Given the description of an element on the screen output the (x, y) to click on. 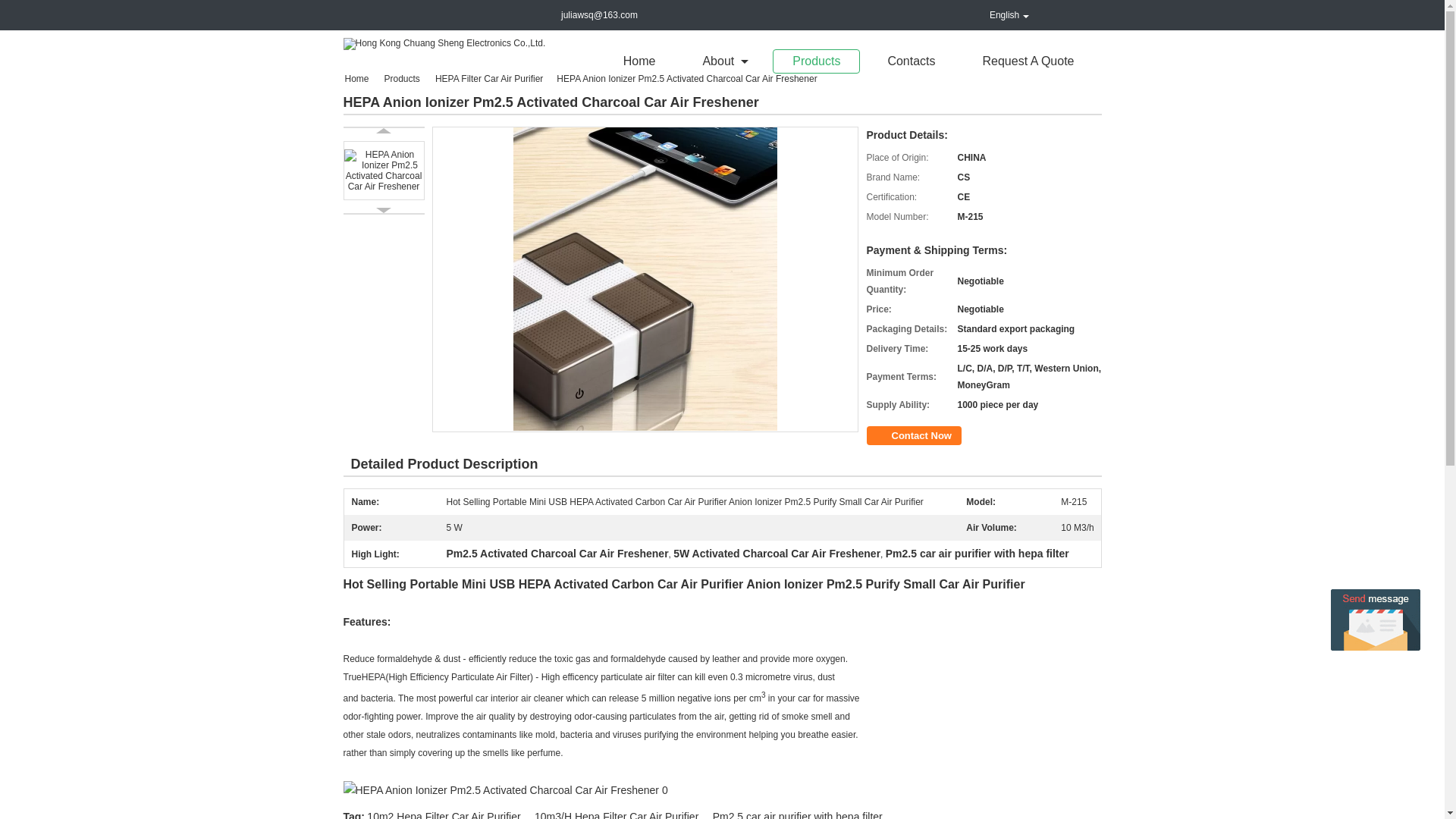
10m2 Hepa Filter Car Air Purifier (442, 814)
About (723, 61)
Products (816, 61)
Products (403, 78)
Home (360, 78)
Hong Kong Chuang Sheng Electronics Co.,Ltd. (443, 42)
Contact Now (913, 435)
Pm2.5 car air purifier with hepa filter (797, 814)
HEPA Filter Car Air Purifier (490, 78)
Contacts (911, 61)
